Given the description of an element on the screen output the (x, y) to click on. 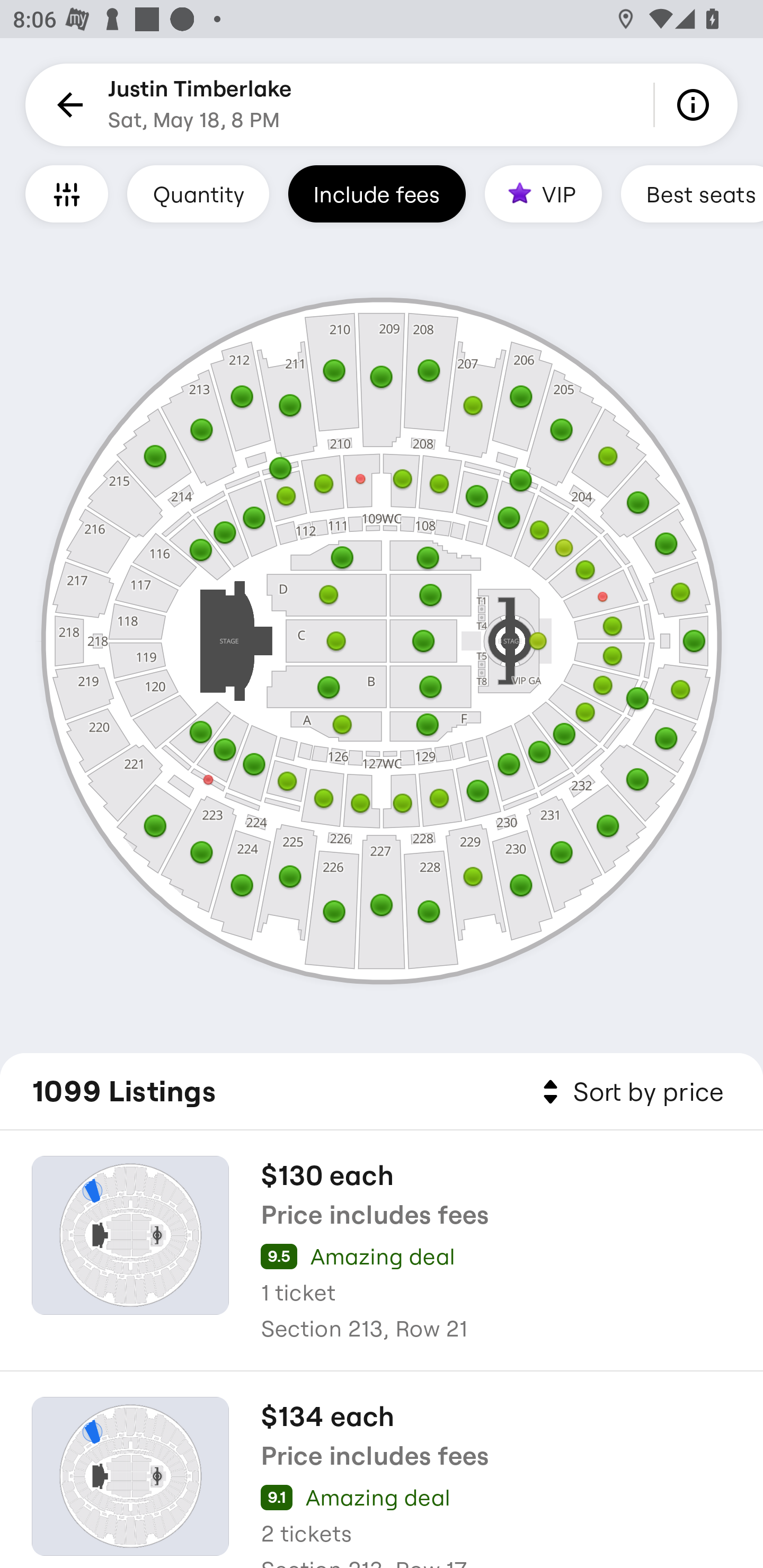
Back Justin Timberlake Sat, May 18, 8 PM Info (381, 104)
Back (66, 104)
Justin Timberlake Sat, May 18, 8 PM (200, 104)
Info (695, 104)
Filters and Accessible Seating (66, 193)
Quantity (198, 193)
Include fees (376, 193)
VIP (543, 193)
Best seats (692, 193)
Sort by price (629, 1091)
